Given the description of an element on the screen output the (x, y) to click on. 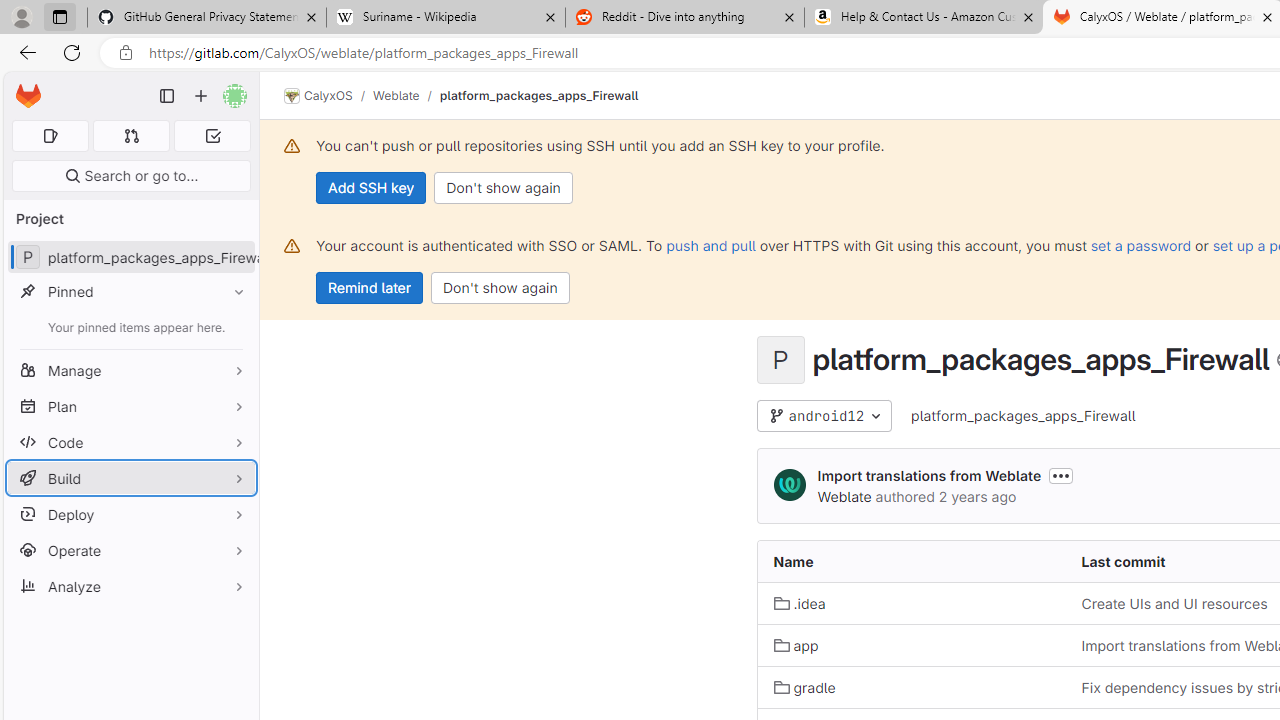
Don't show again (500, 287)
Create UIs and UI resources (1174, 603)
Plan (130, 406)
Plan (130, 406)
Name (911, 561)
Deploy (130, 514)
platform_packages_apps_Firewall (1023, 415)
platform_packages_apps_Firewall (1023, 416)
android12 (824, 416)
Operate (130, 550)
Weblate (843, 496)
Build (130, 478)
CalyxOS/ (328, 96)
